Given the description of an element on the screen output the (x, y) to click on. 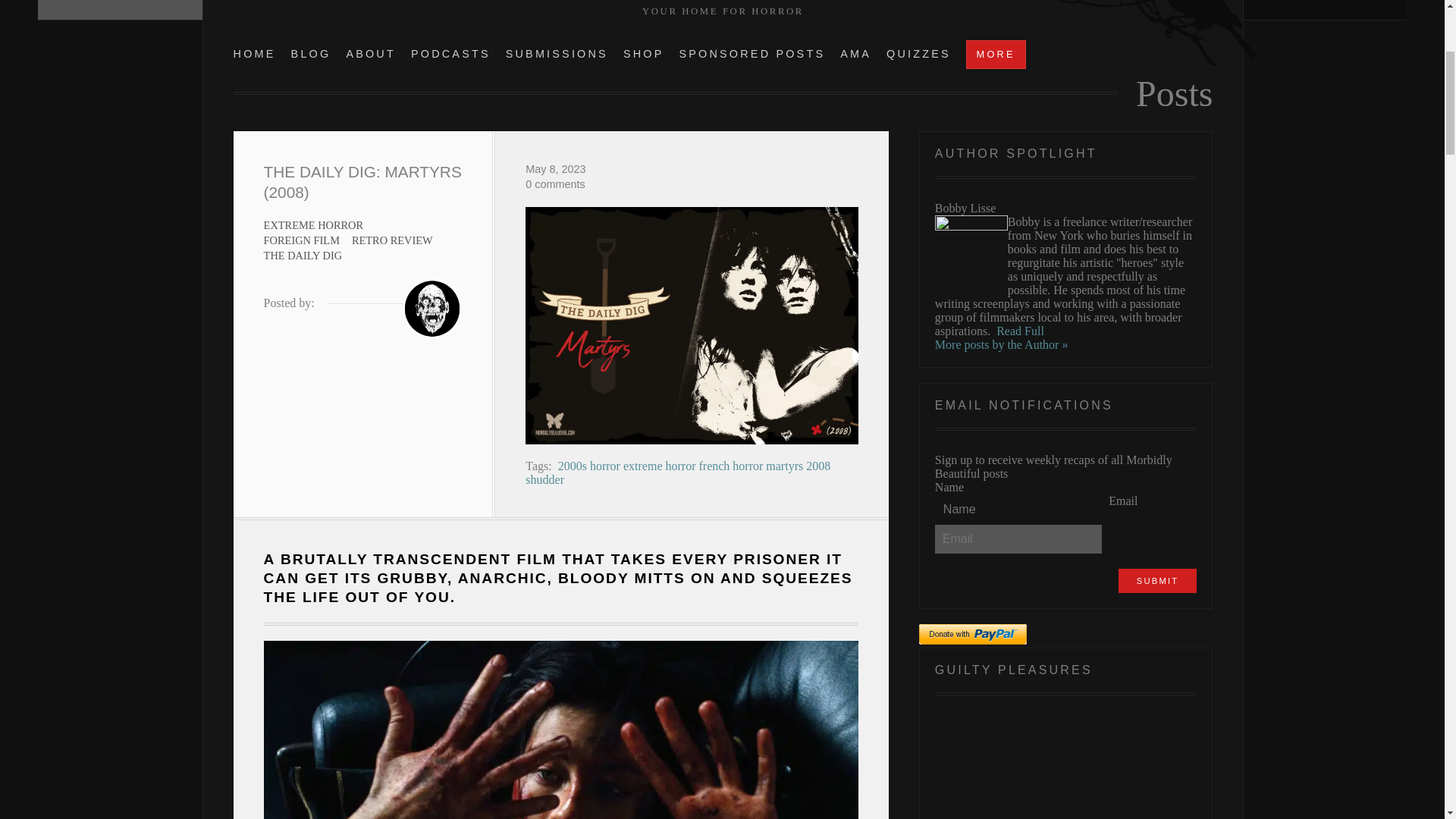
Read full Profile (1019, 330)
BLOG (311, 53)
SHOP (643, 53)
PODCASTS (450, 53)
EXTREME HORROR (313, 224)
ABOUT (371, 53)
HOME (254, 53)
SUBMISSIONS (556, 53)
MORE (996, 54)
Submit (1157, 580)
More articles by this author (1001, 344)
Bobby Lisse (433, 308)
SPONSORED POSTS (751, 53)
QUIZZES (918, 53)
AMA (855, 53)
